Given the description of an element on the screen output the (x, y) to click on. 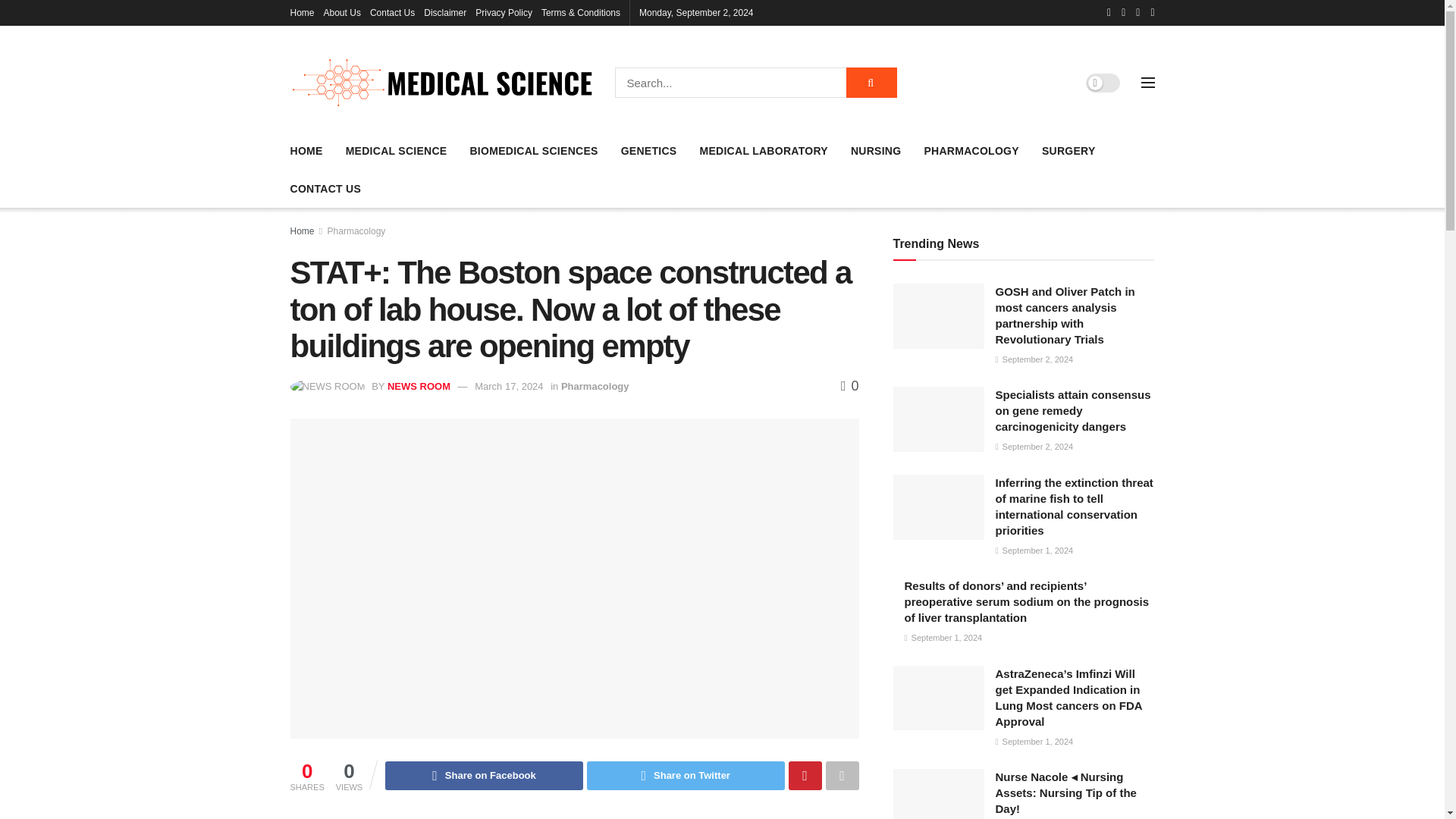
BIOMEDICAL SCIENCES (532, 150)
Home (301, 12)
SURGERY (1069, 150)
Disclaimer (444, 12)
CONTACT US (325, 188)
About Us (342, 12)
MEDICAL LABORATORY (762, 150)
NURSING (875, 150)
GENETICS (649, 150)
HOME (305, 150)
